Given the description of an element on the screen output the (x, y) to click on. 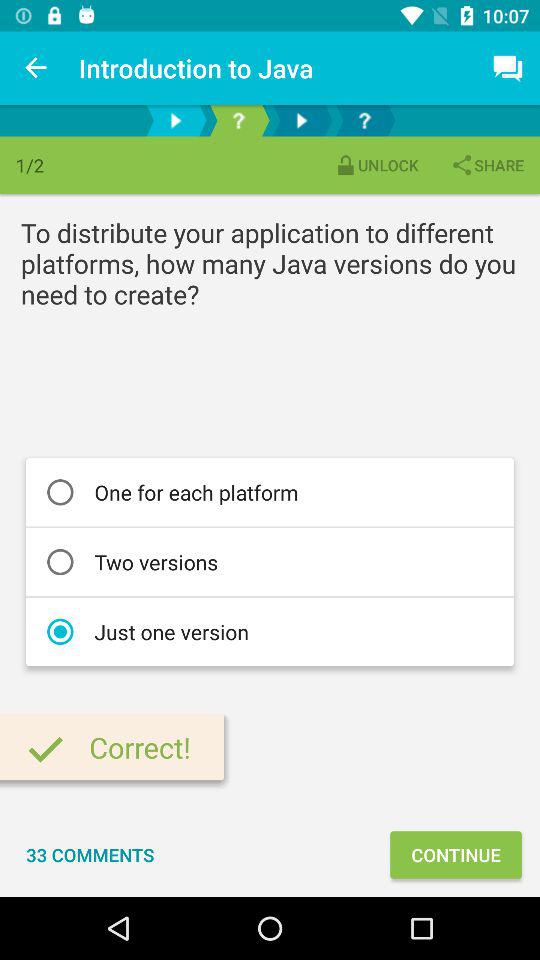
shows question option (238, 120)
